Given the description of an element on the screen output the (x, y) to click on. 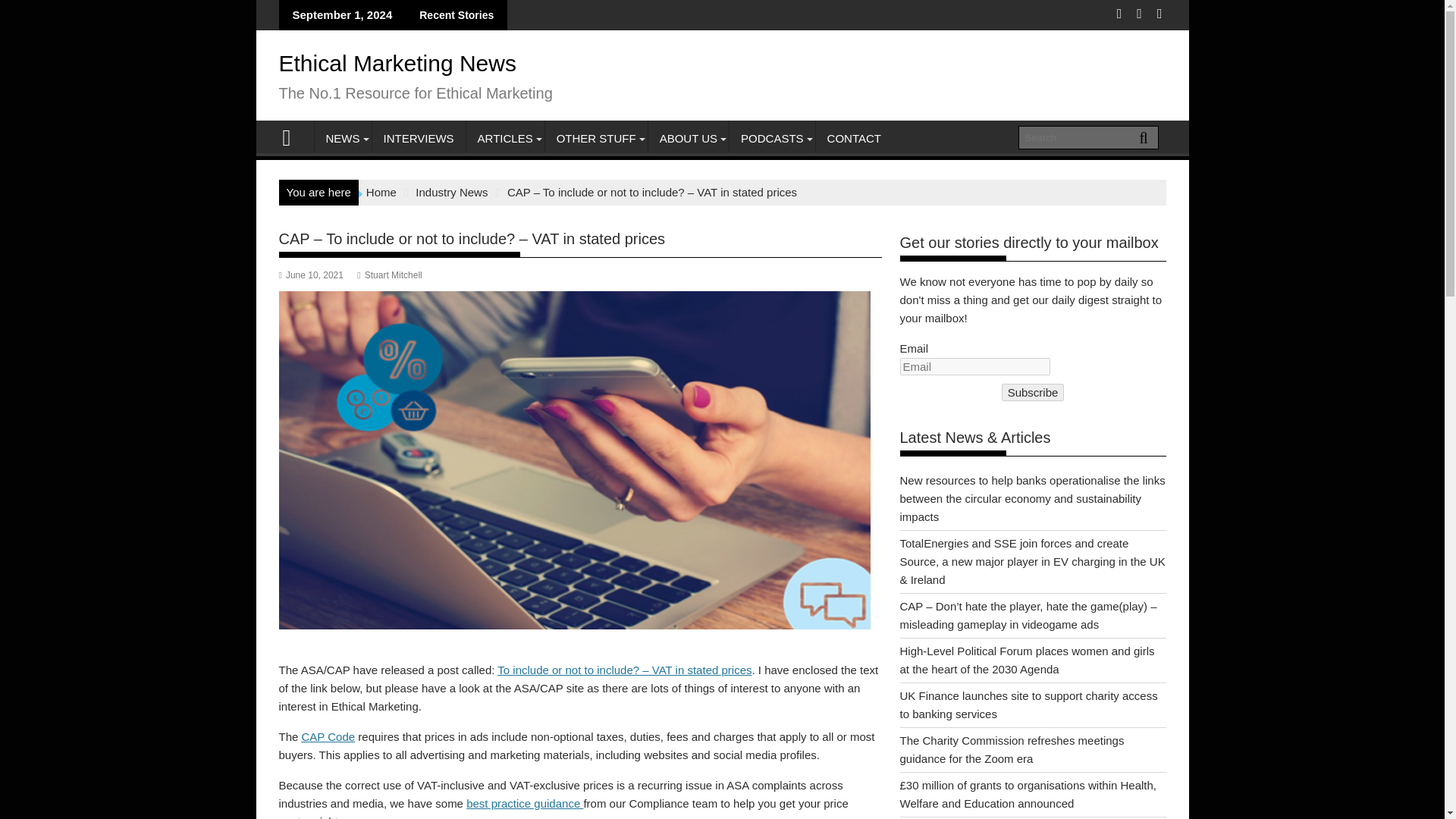
PODCASTS (772, 138)
best practice guidance (524, 802)
Industry News (450, 192)
CONTACT (853, 138)
June 10, 2021 (311, 275)
Home (381, 192)
ABOUT US (688, 138)
INTERVIEWS (417, 138)
Subscribe (1032, 392)
CAP Code (328, 736)
